Given the description of an element on the screen output the (x, y) to click on. 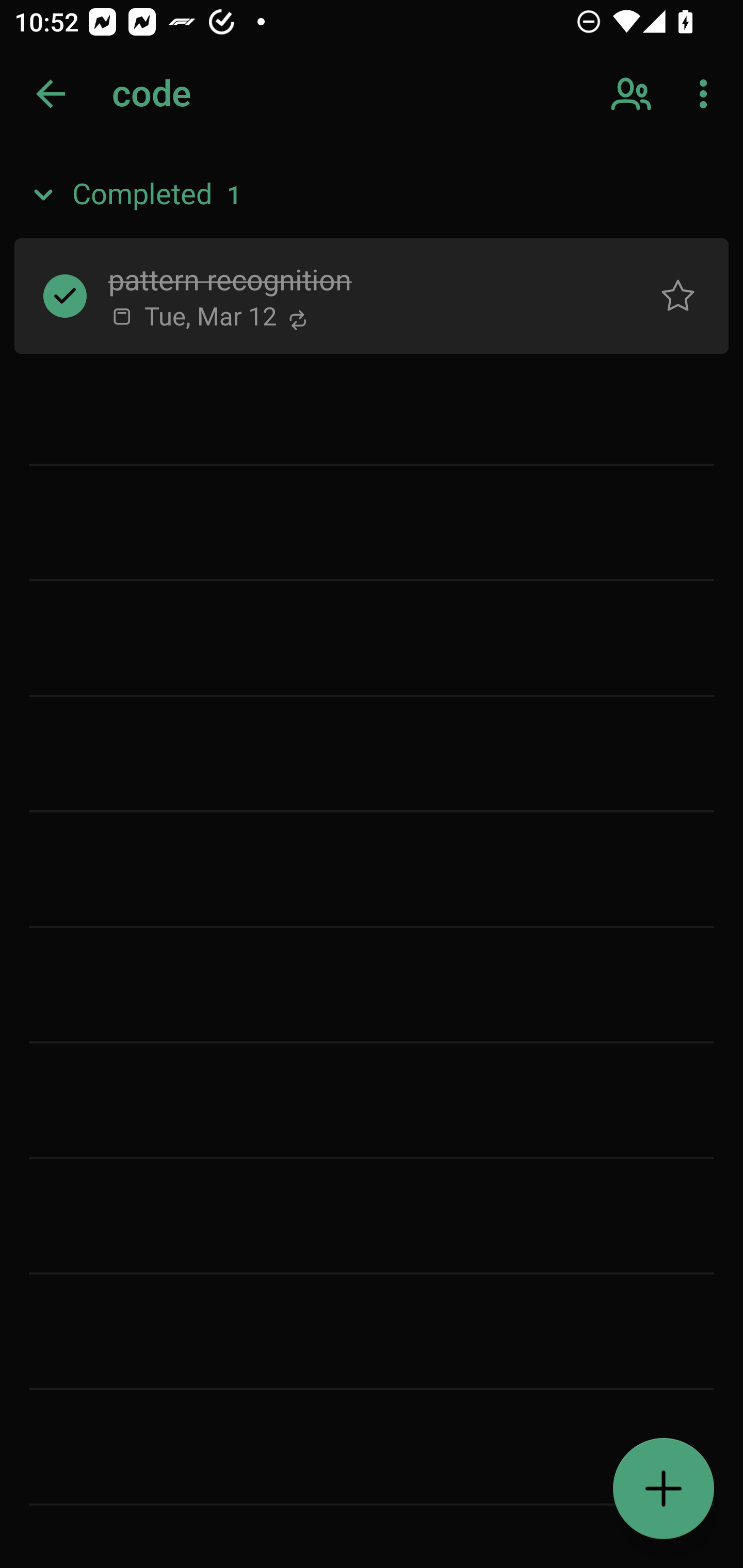
Back (50, 93)
testappium002@outlook.com Enter search (185, 93)
Sharing options (632, 93)
More options (706, 93)
Completed, 1 item, Expanded Completed 1 (371, 195)
Completed task pattern recognition, Button (64, 295)
Normal task pattern recognition, Button (677, 295)
Add a task (663, 1488)
